Given the description of an element on the screen output the (x, y) to click on. 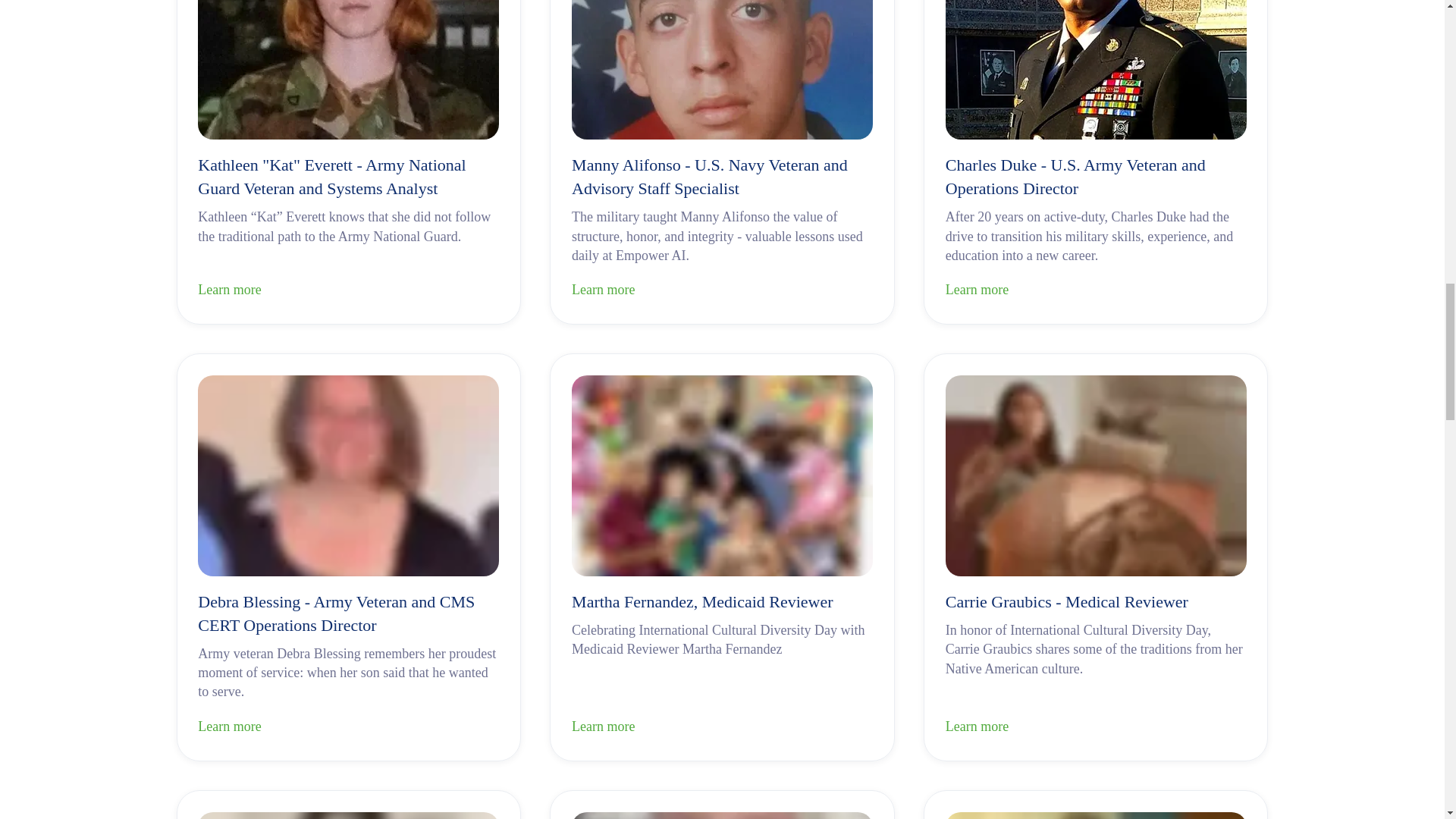
Learn more (348, 291)
Learn more (722, 291)
Learn more (1095, 291)
